Given the description of an element on the screen output the (x, y) to click on. 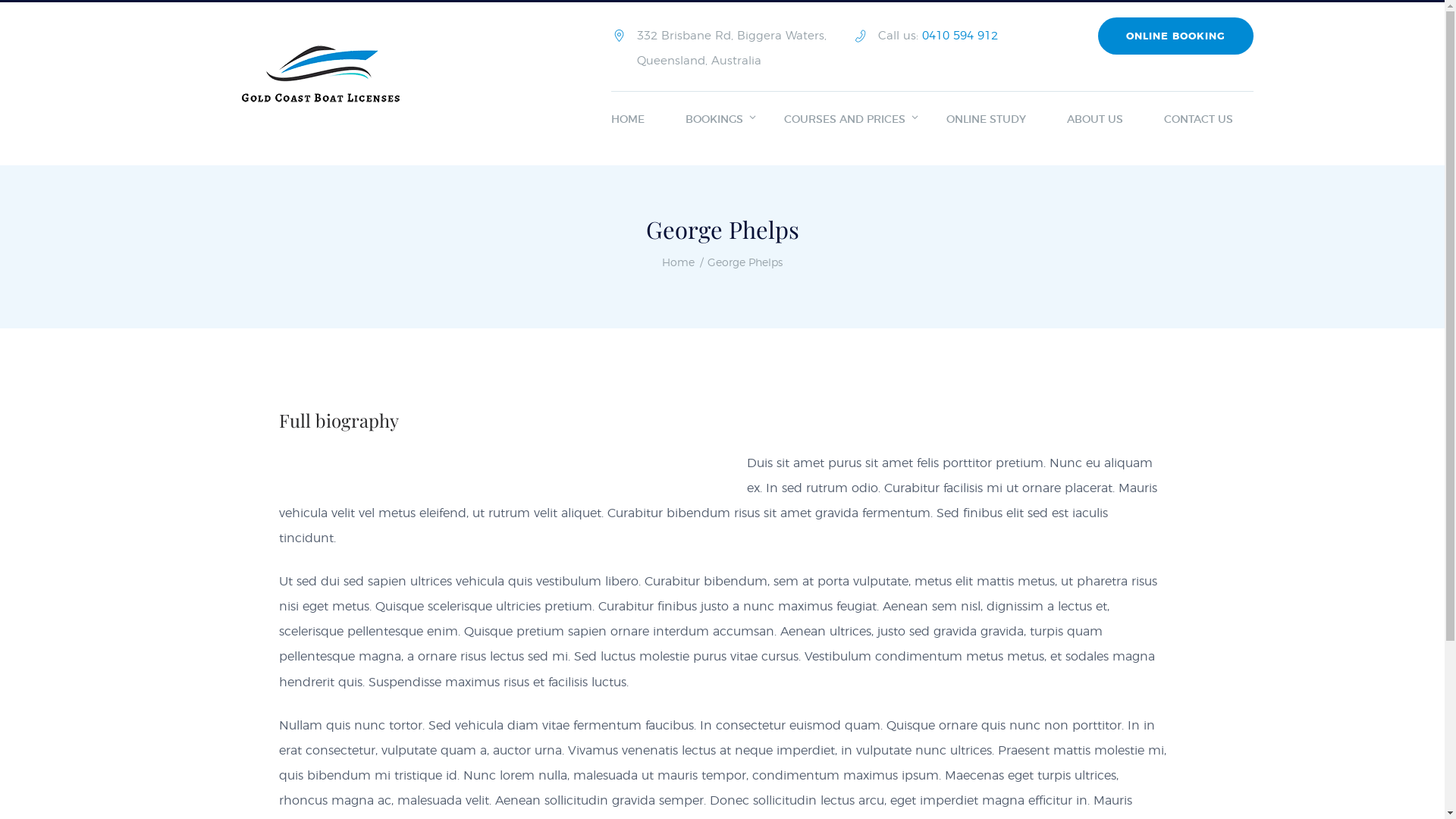
ONLINE BOOKING Element type: text (1175, 35)
Boat and Jetski Licences Element type: text (325, 93)
0410 594 912 Element type: text (959, 35)
HOME Element type: text (638, 121)
Home Element type: text (678, 263)
CONTACT US Element type: text (1198, 121)
BOOKINGS Element type: text (714, 121)
COURSES AND PRICES Element type: text (844, 121)
ONLINE STUDY Element type: text (985, 121)
ABOUT US Element type: text (1094, 121)
